Given the description of an element on the screen output the (x, y) to click on. 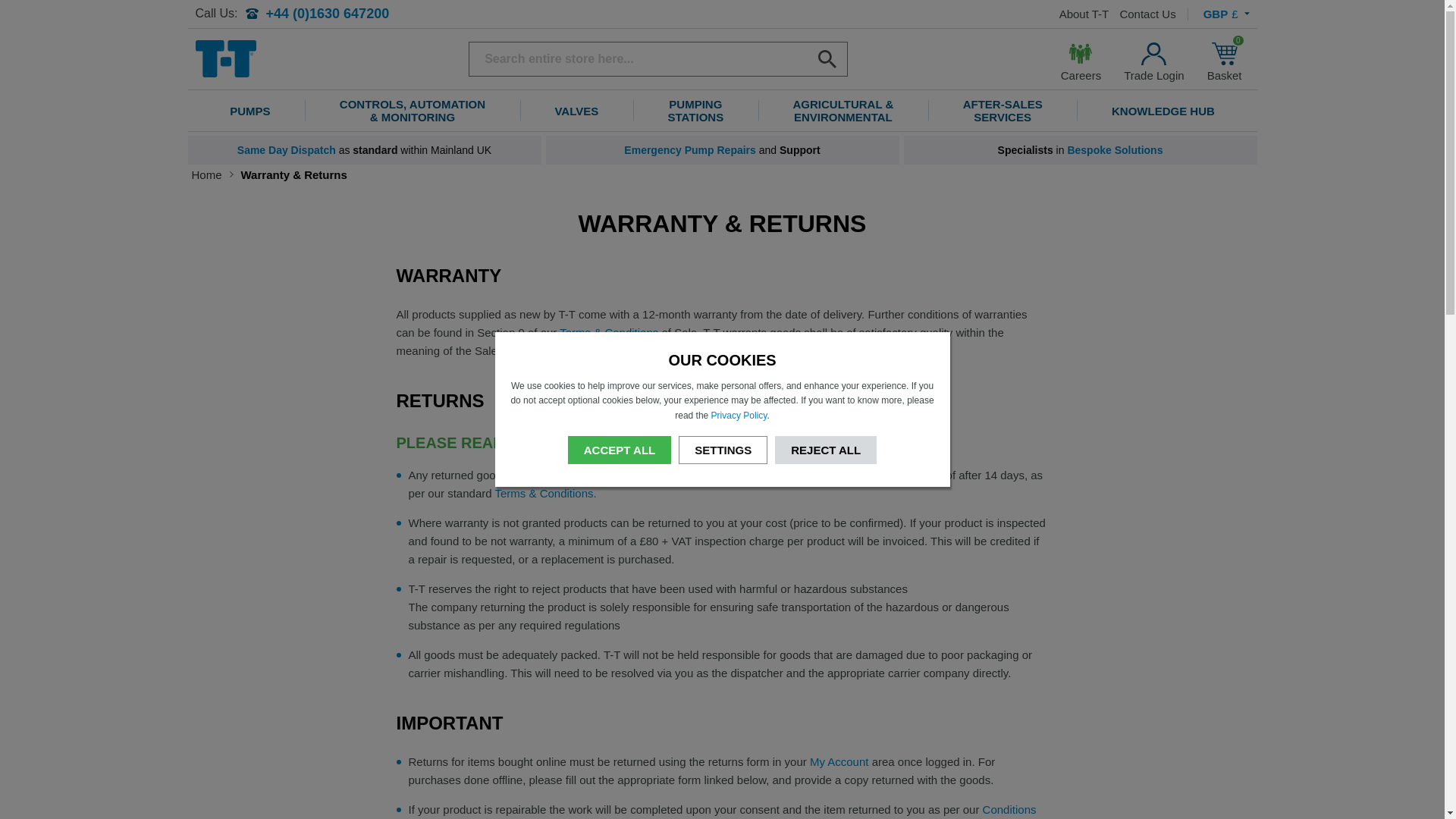
Contact Us (1146, 13)
Privacy Policy (739, 415)
About T-T (1084, 13)
REJECT ALL (825, 449)
Contact Us (1146, 13)
T-T Pumps Ltd (225, 58)
About T-T (1084, 13)
SETTINGS (722, 449)
ACCEPT ALL (619, 449)
Privacy Policy (739, 415)
Go to Home Page (211, 174)
PUMPS (250, 110)
